Given the description of an element on the screen output the (x, y) to click on. 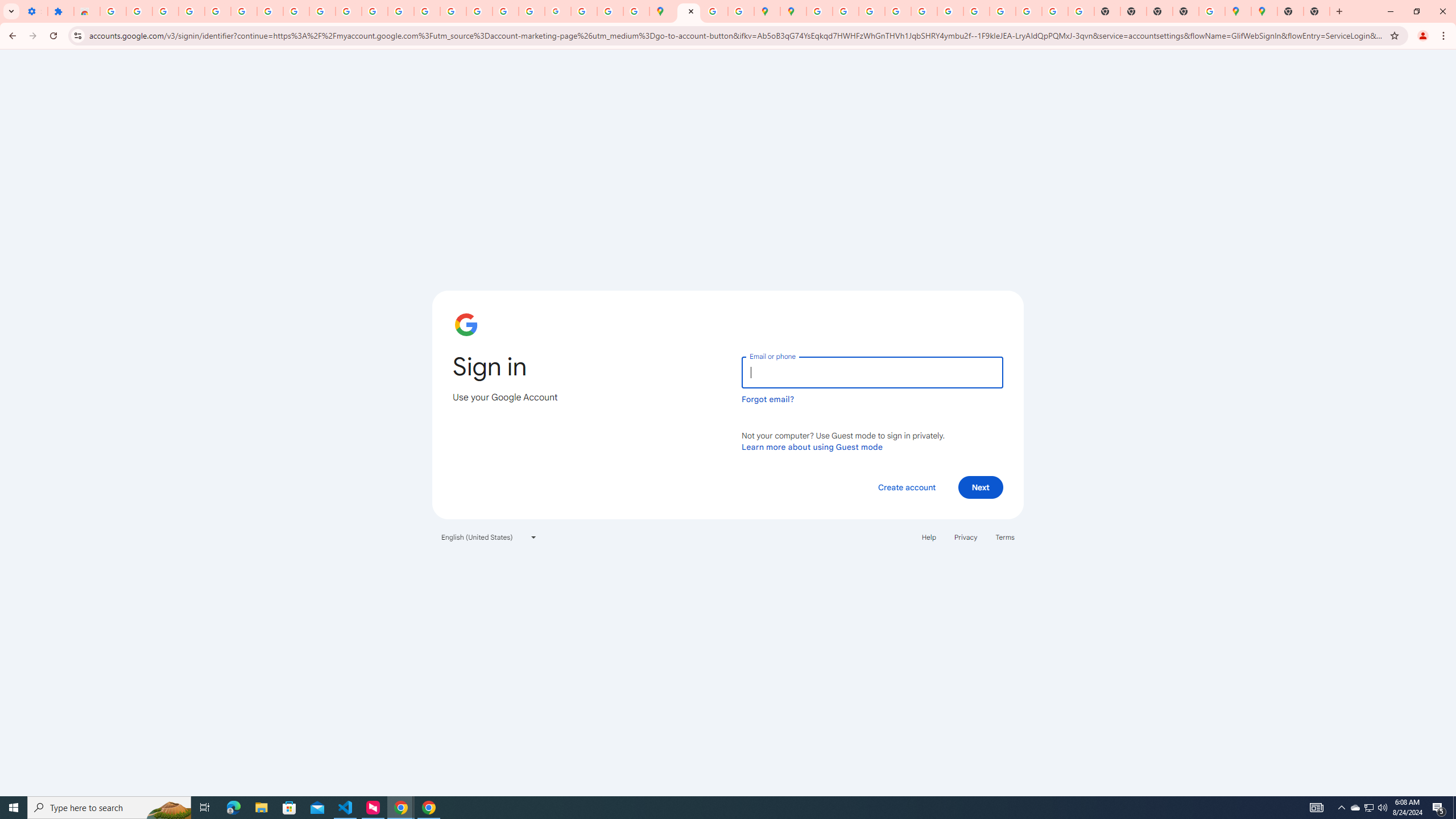
Reviews: Helix Fruit Jump Arcade Game (86, 11)
https://scholar.google.com/ (400, 11)
Google Maps (663, 11)
Forgot email? (767, 398)
English (United States) (489, 536)
Delete photos & videos - Computer - Google Photos Help (138, 11)
